Given the description of an element on the screen output the (x, y) to click on. 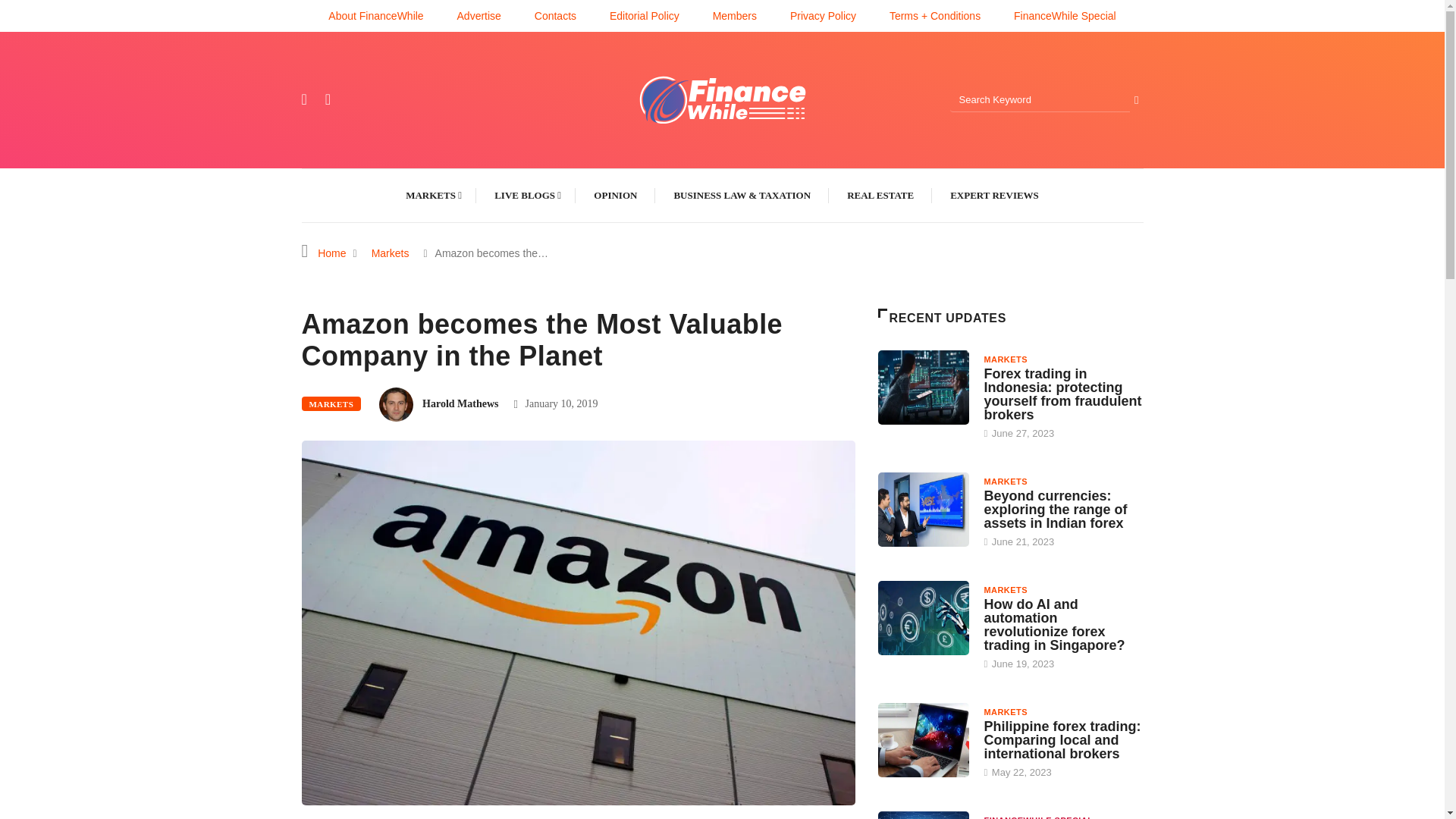
Markets (390, 253)
Privacy Policy (823, 15)
About FinanceWhile (376, 15)
FinanceWhile Special (1064, 15)
MARKETS (331, 403)
LIVE BLOGS (526, 194)
Members (735, 15)
Editorial Policy (644, 15)
Advertise (478, 15)
